Given the description of an element on the screen output the (x, y) to click on. 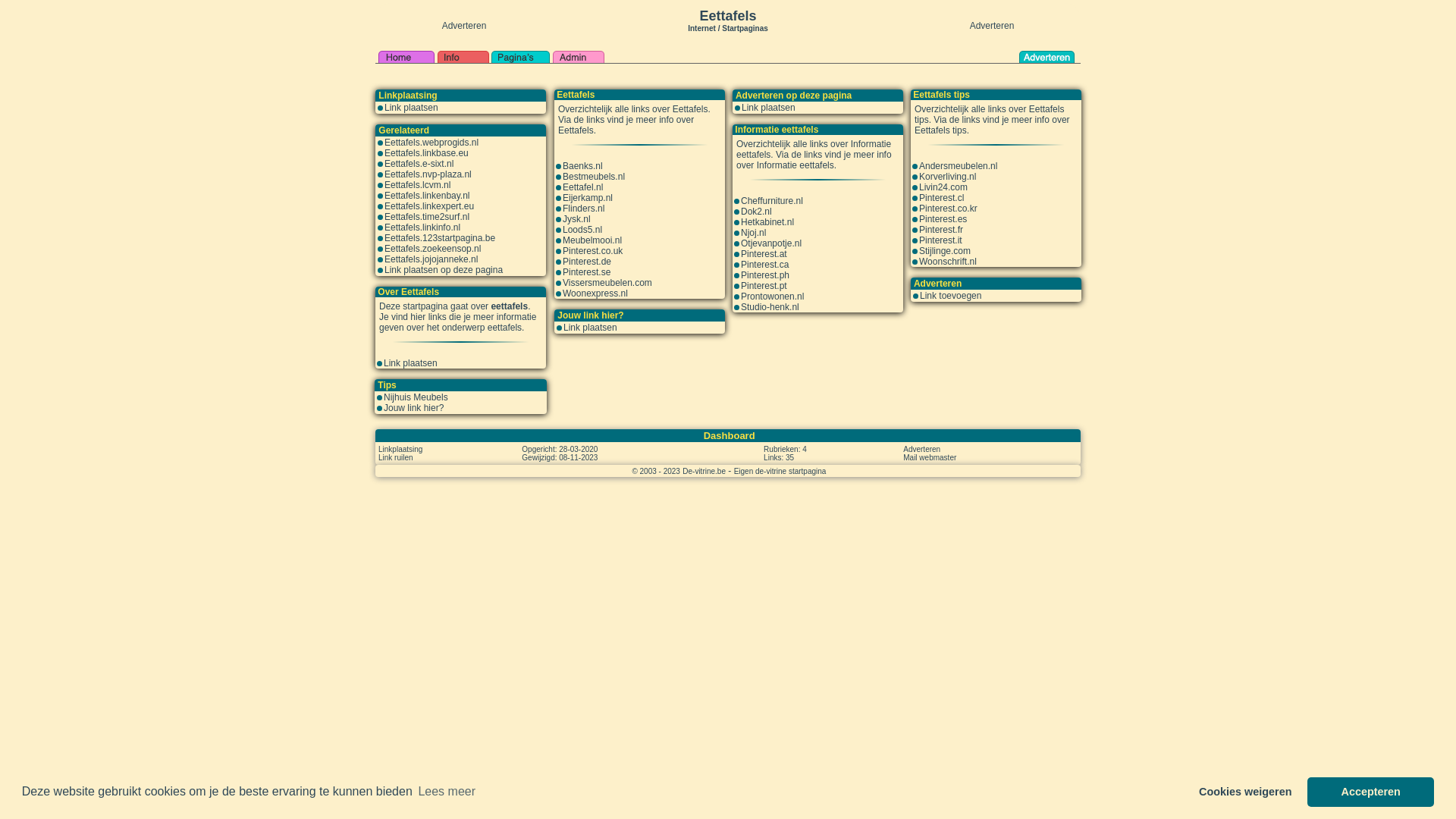
Prontowonen.nl Element type: text (771, 296)
Flinders.nl Element type: text (583, 208)
Eijerkamp.nl Element type: text (587, 197)
Accepteren Element type: text (1370, 791)
Andersmeubelen.nl Element type: text (958, 165)
Pinterest.cl Element type: text (941, 197)
Eettafels.e-sixt.nl Element type: text (418, 163)
Jysk.nl Element type: text (576, 218)
Link ruilen Element type: text (395, 456)
Link plaatsen Element type: text (768, 107)
Adverteren Element type: text (921, 448)
Eettafels.linkbase.eu Element type: text (426, 152)
Mail webmaster Element type: text (929, 456)
Pinterest.at Element type: text (763, 253)
Eettafels.linkenbay.nl Element type: text (427, 195)
De-vitrine.be Element type: text (703, 470)
Eigen de-vitrine startpagina Element type: text (780, 470)
Pinterest.ph Element type: text (764, 274)
Adverteren Element type: text (464, 25)
Njoj.nl Element type: text (752, 232)
Stijlinge.com Element type: text (944, 250)
Pinterest.it Element type: text (940, 240)
Loods5.nl Element type: text (582, 229)
Eettafels.linkinfo.nl Element type: text (422, 227)
Internet Element type: text (701, 26)
Eettafels.jojojanneke.nl Element type: text (430, 259)
Pinterest.pt Element type: text (763, 285)
Studio-henk.nl Element type: text (769, 306)
Eettafels.time2surf.nl Element type: text (426, 216)
Meubelmooi.nl Element type: text (591, 240)
Pinterest.se Element type: text (586, 271)
Pinterest.co.uk Element type: text (592, 250)
Bestmeubels.nl Element type: text (593, 176)
Eettafels.lcvm.nl Element type: text (417, 184)
Jouw link hier? Element type: text (413, 407)
Link plaatsen Element type: text (590, 327)
Link toevoegen Element type: text (950, 295)
Vissersmeubelen.com Element type: text (607, 282)
Linkplaatsing Element type: text (400, 448)
Pinterest.ca Element type: text (764, 264)
Cheffurniture.nl Element type: text (771, 200)
Korverliving.nl Element type: text (947, 176)
Eettafels.webprogids.nl Element type: text (431, 142)
Woonexpress.nl Element type: text (594, 293)
Woonschrift.nl Element type: text (947, 261)
Cookies weigeren Element type: text (1245, 791)
Eettafels.zoekeensop.nl Element type: text (432, 248)
Eettafels Element type: text (727, 15)
Eettafels.nvp-plaza.nl Element type: text (427, 174)
Eettafels.123startpagina.be Element type: text (439, 237)
Baenks.nl Element type: text (582, 165)
Nijhuis Meubels Element type: text (415, 397)
Pinterest.de Element type: text (586, 261)
Link plaatsen op deze pagina Element type: text (443, 269)
Adverteren Element type: text (991, 25)
Pinterest.fr Element type: text (941, 229)
Otjevanpotje.nl Element type: text (770, 243)
Pinterest.es Element type: text (942, 218)
Hetkabinet.nl Element type: text (766, 221)
Pinterest.co.kr Element type: text (948, 208)
Startpaginas Element type: text (744, 28)
Link plaatsen Element type: text (411, 107)
Eettafels.linkexpert.eu Element type: text (428, 205)
Livin24.com Element type: text (943, 187)
Lees meer Element type: text (446, 791)
Eettafel.nl Element type: text (582, 187)
Link plaatsen Element type: text (410, 362)
Dok2.nl Element type: text (755, 211)
